Given the description of an element on the screen output the (x, y) to click on. 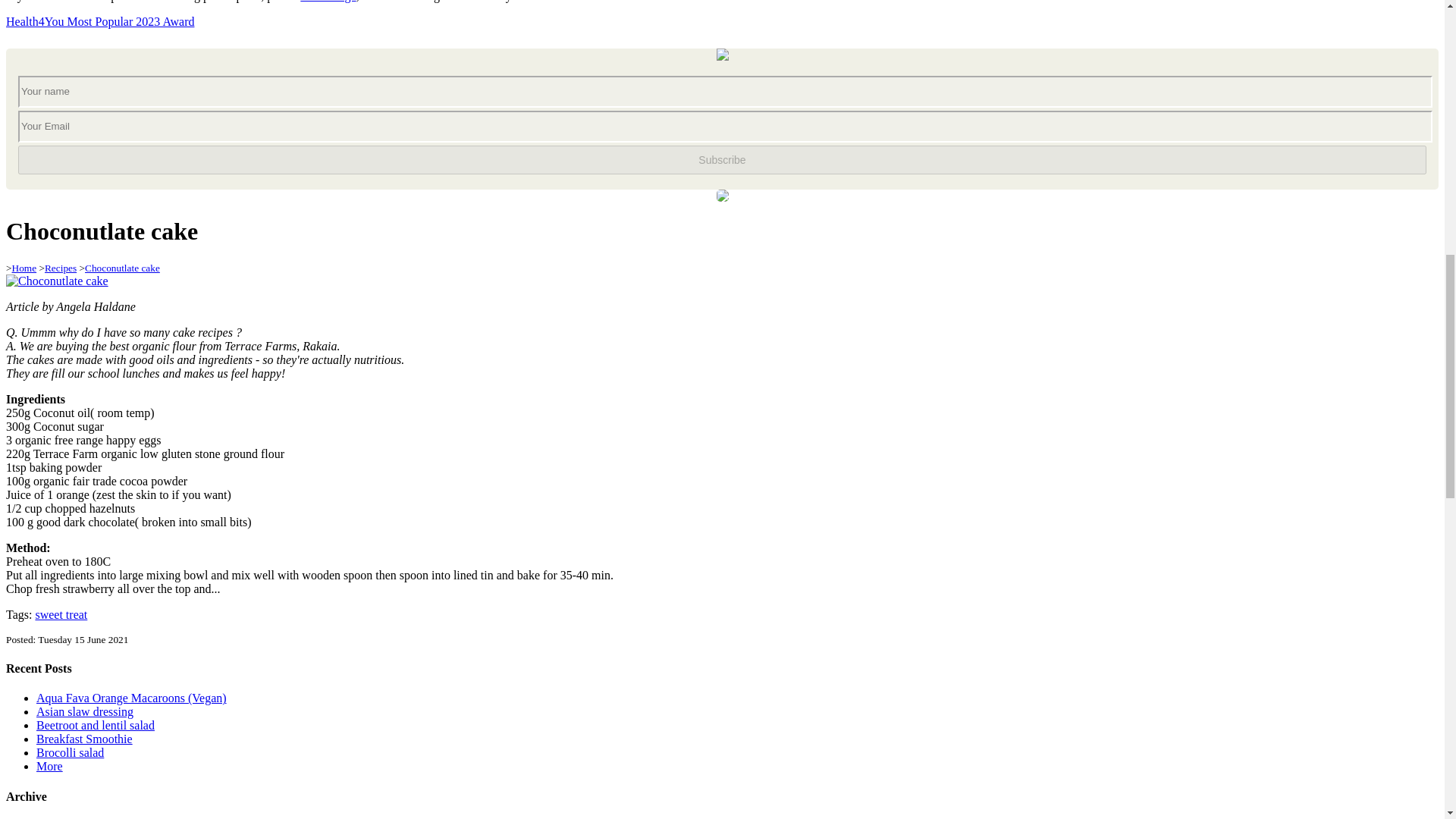
Choconutlate cake (56, 280)
Subscribe (721, 159)
